Given the description of an element on the screen output the (x, y) to click on. 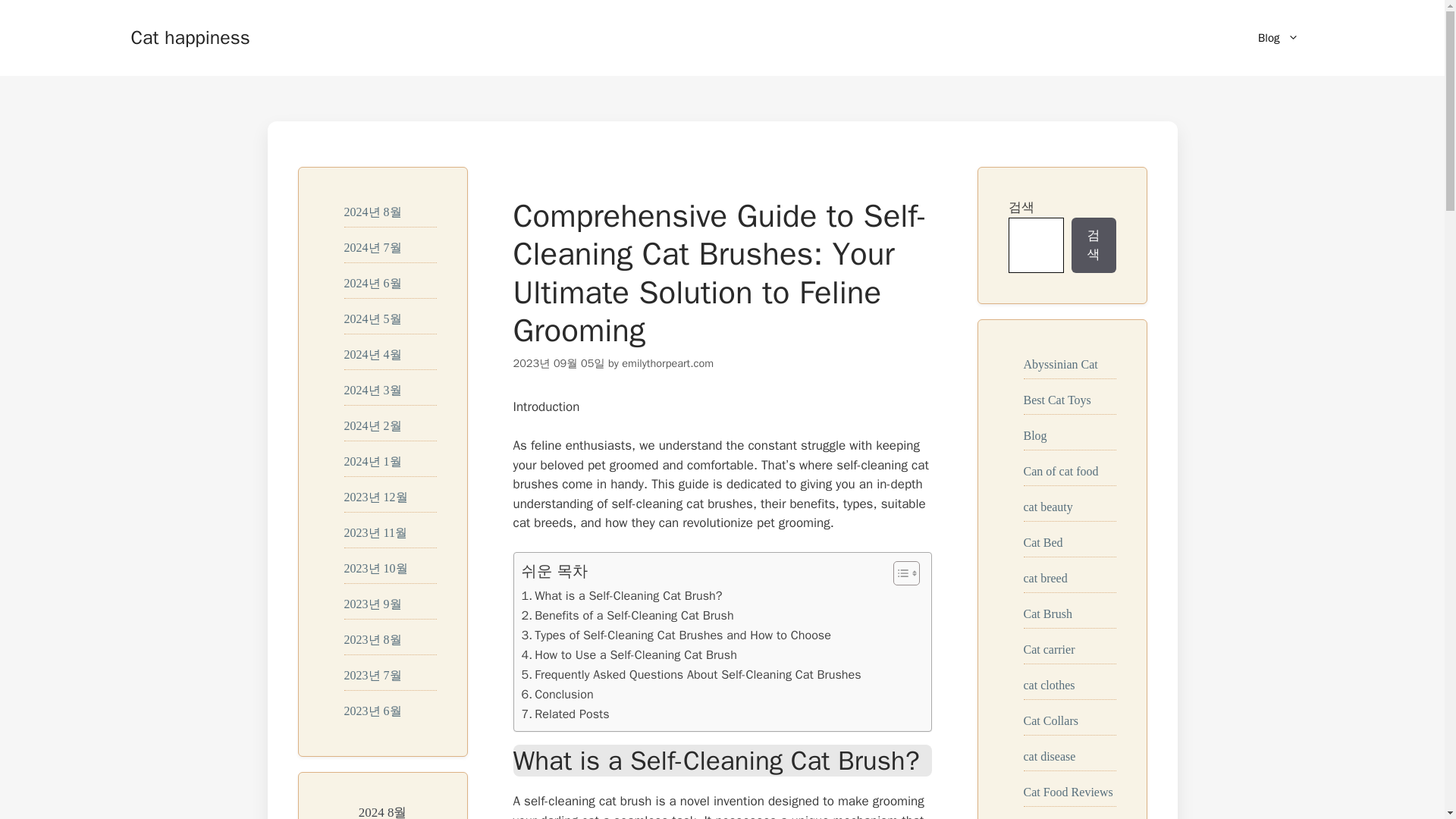
Types of Self-Cleaning Cat Brushes and How to Choose (676, 635)
Frequently Asked Questions About Self-Cleaning Cat Brushes (691, 674)
Cat happiness (189, 37)
Types of Self-Cleaning Cat Brushes and How to Choose (676, 635)
Frequently Asked Questions About Self-Cleaning Cat Brushes (691, 674)
View all posts by emilythorpeart.com (667, 363)
What is a Self-Cleaning Cat Brush? (621, 596)
Related Posts (565, 713)
Blog (1278, 37)
Benefits of a Self-Cleaning Cat Brush (627, 615)
